Given the description of an element on the screen output the (x, y) to click on. 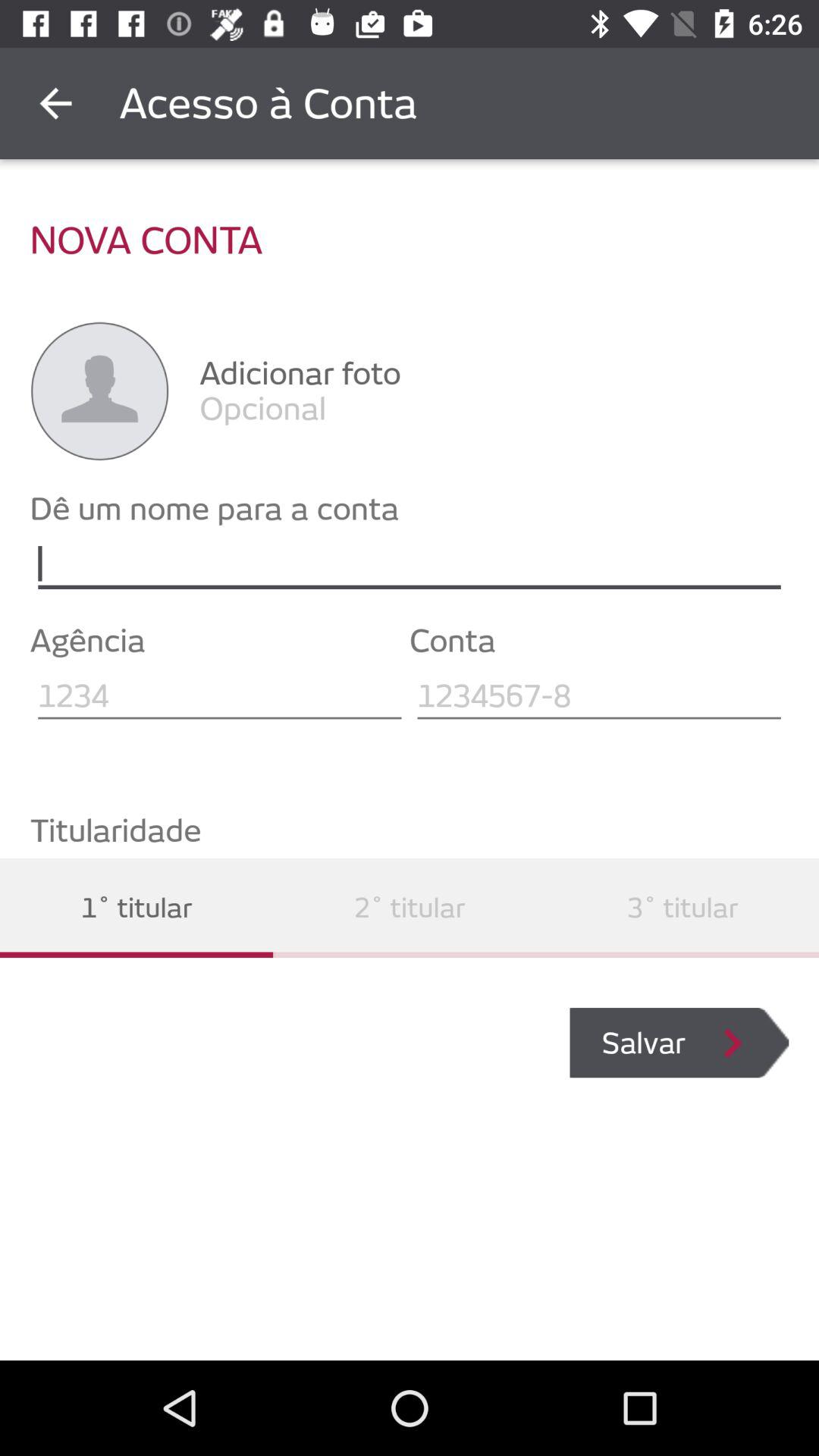
open the icon below titularidade item (682, 907)
